Given the description of an element on the screen output the (x, y) to click on. 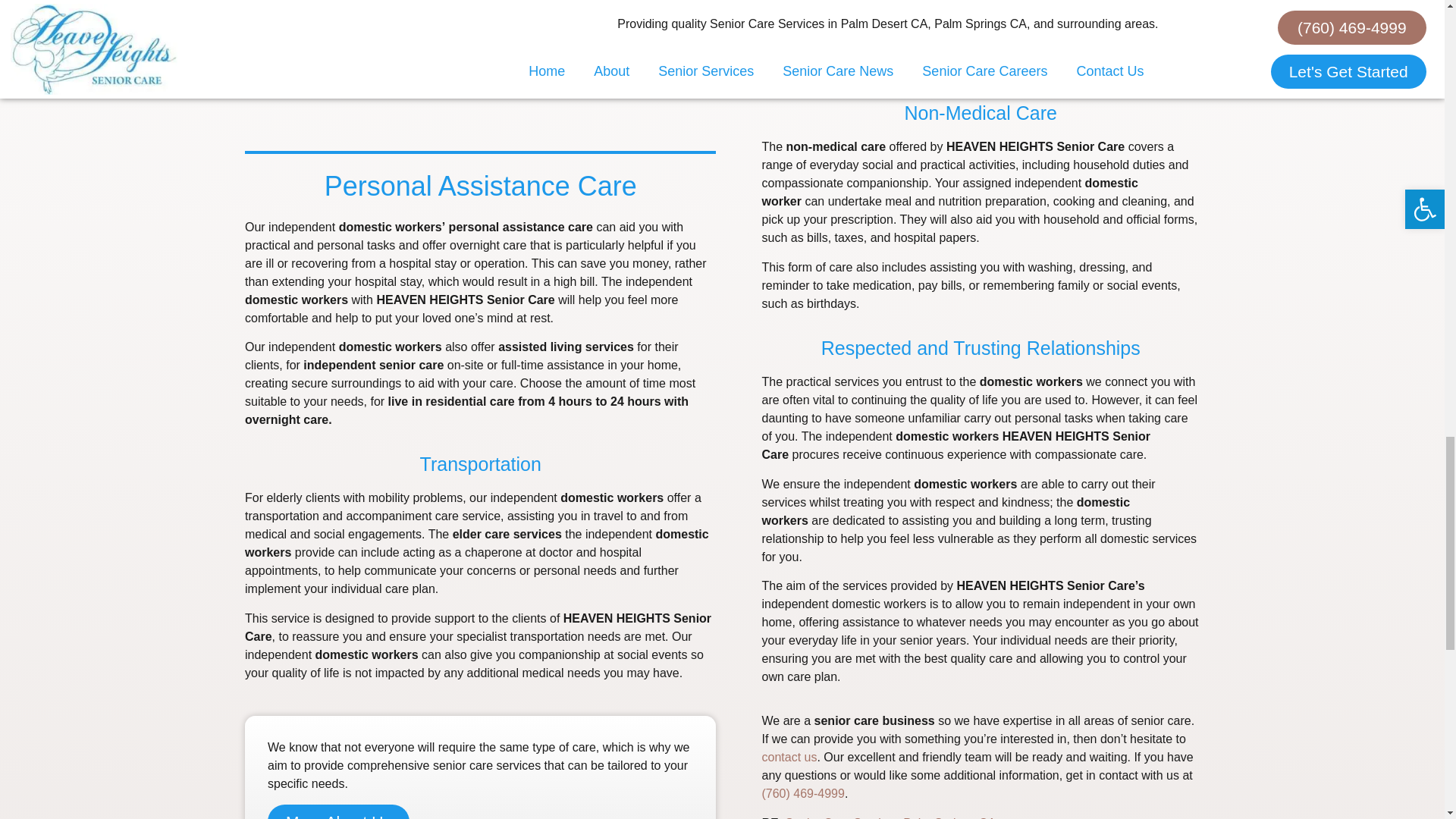
In Home care Services Carlsbad CA (890, 817)
